Given the description of an element on the screen output the (x, y) to click on. 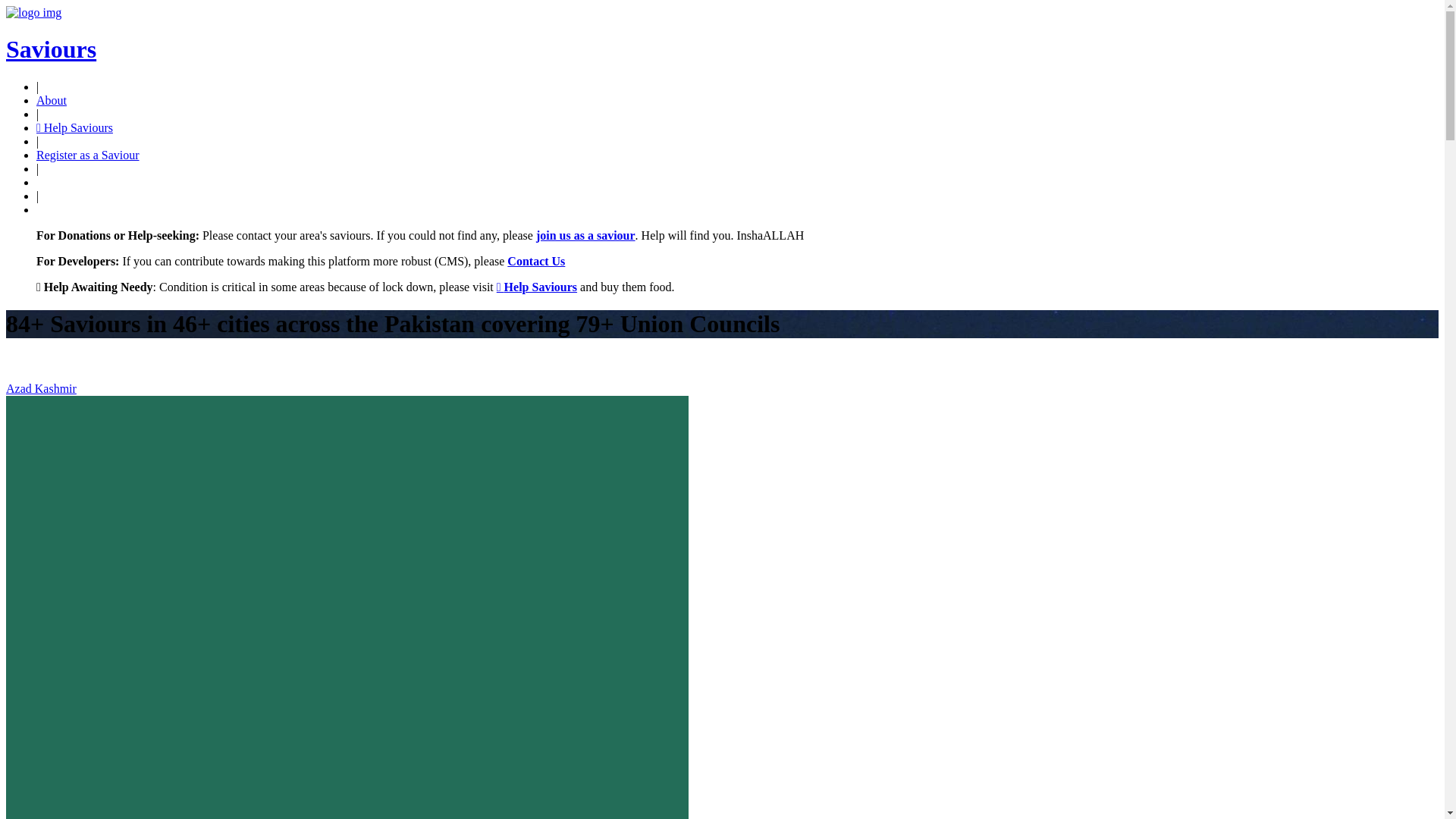
join us as a saviour Element type: text (585, 235)
About Element type: text (51, 100)
Contact Us Element type: text (535, 260)
Register as a Saviour Element type: text (87, 154)
Saviours Element type: text (51, 48)
